Given the description of an element on the screen output the (x, y) to click on. 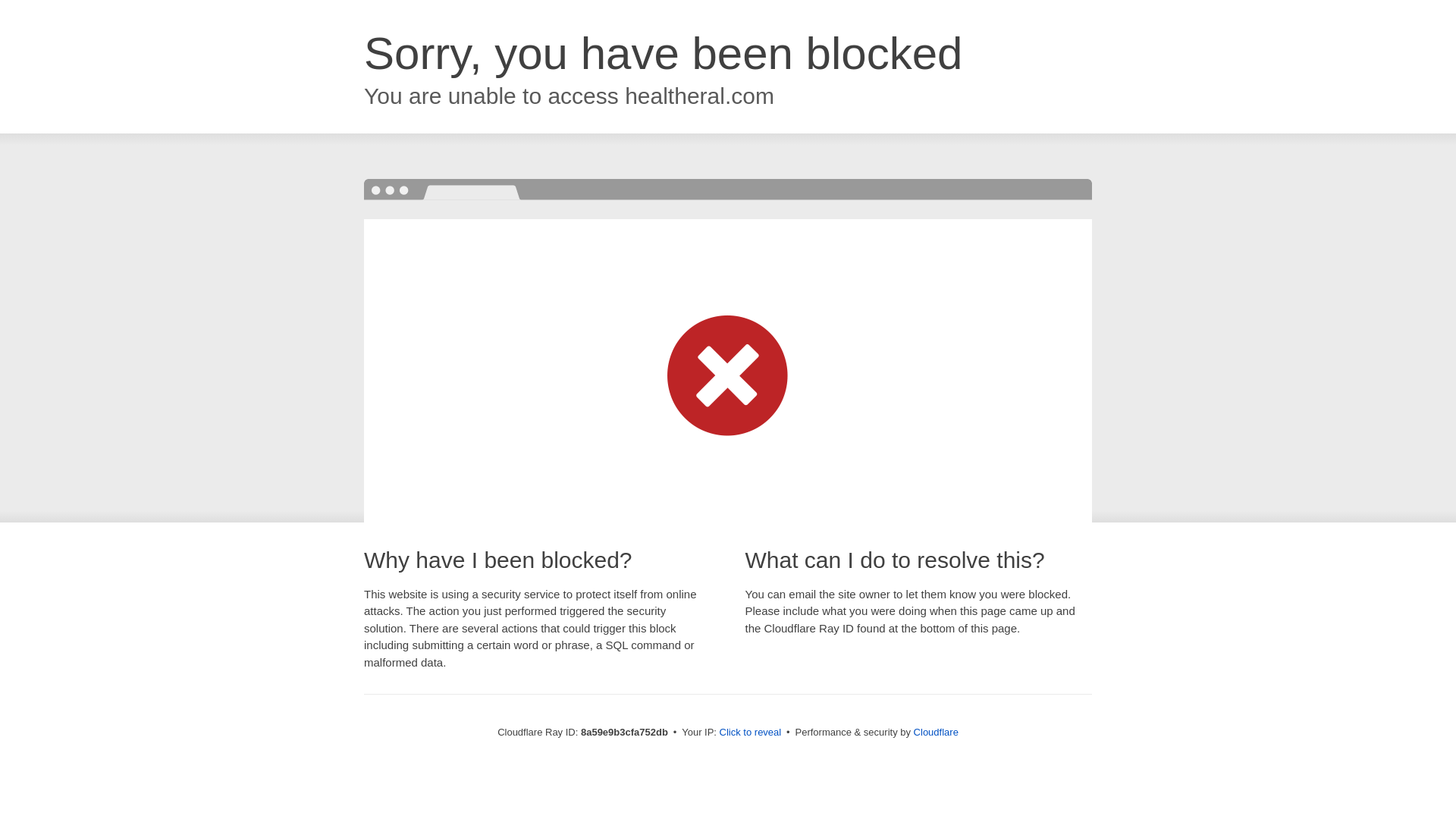
Click to reveal (750, 732)
Cloudflare (936, 731)
